Given the description of an element on the screen output the (x, y) to click on. 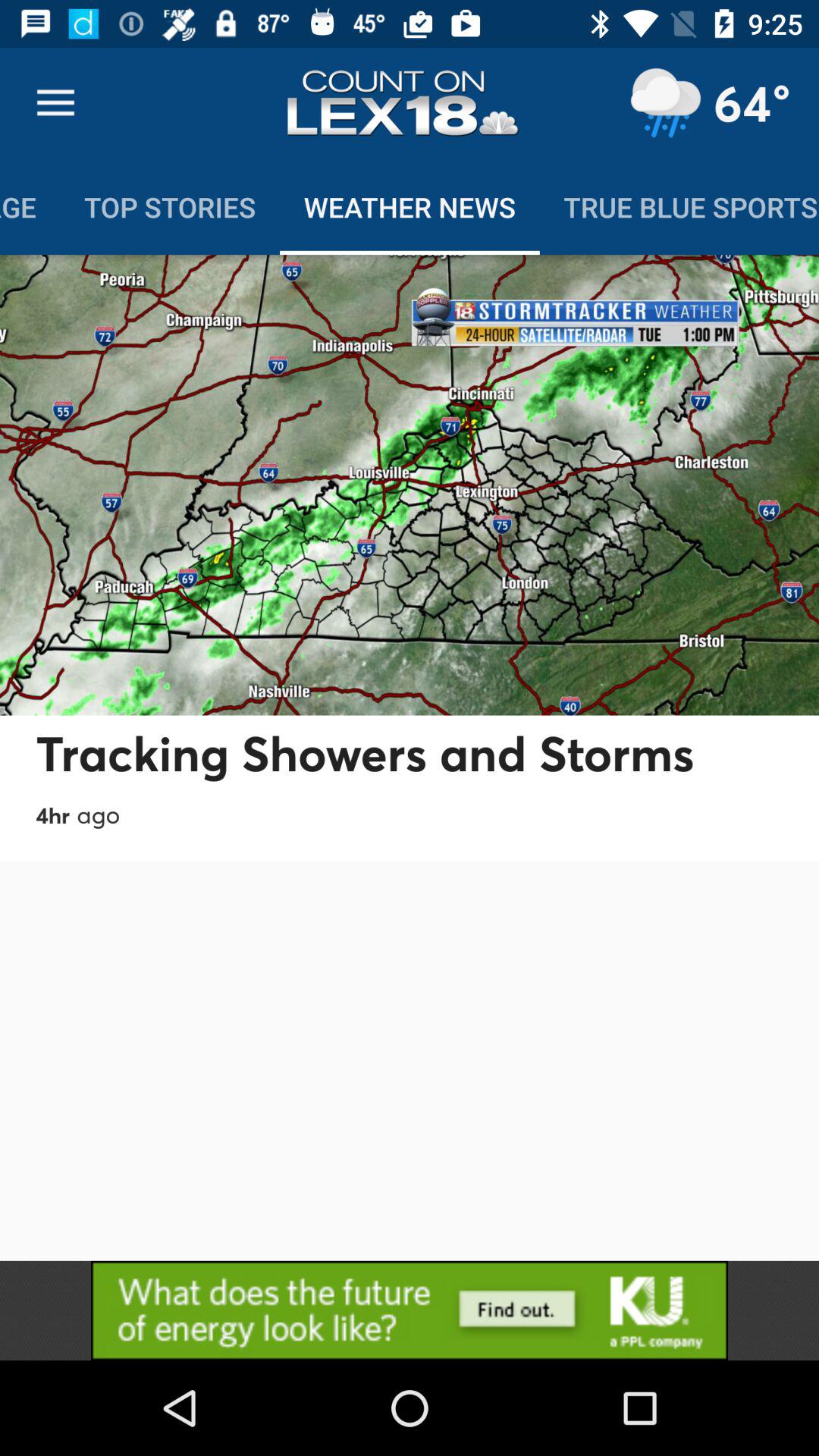
its going to rain (665, 103)
